Given the description of an element on the screen output the (x, y) to click on. 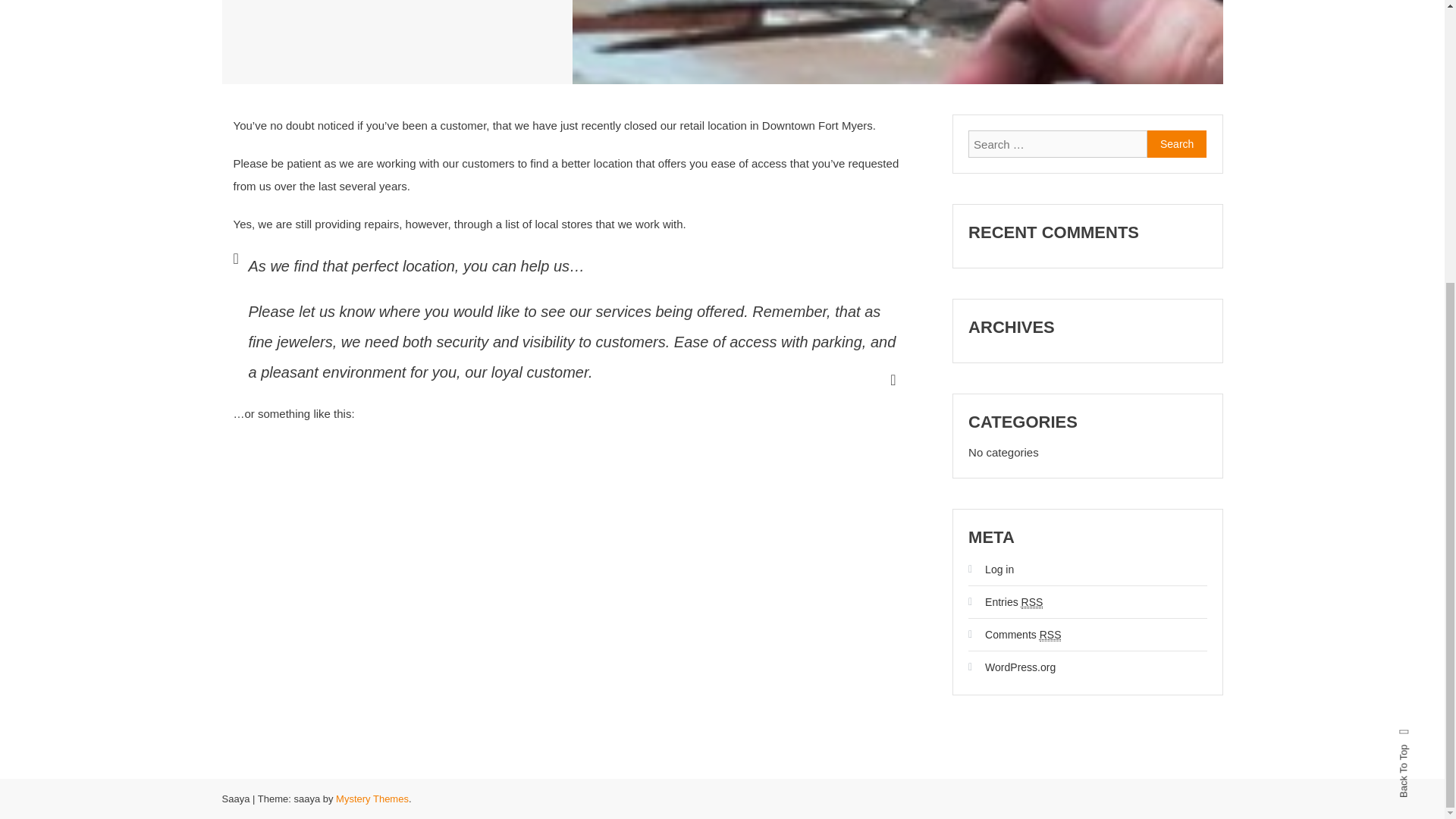
WordPress.org (1011, 667)
Search (768, 12)
Mystery Themes (372, 798)
Really Simple Syndication (1050, 634)
Comments RSS (1014, 634)
Entries RSS (1005, 601)
Log in (990, 569)
Search (1177, 144)
Really Simple Syndication (1032, 602)
Search (1177, 144)
Search (1177, 144)
